Given the description of an element on the screen output the (x, y) to click on. 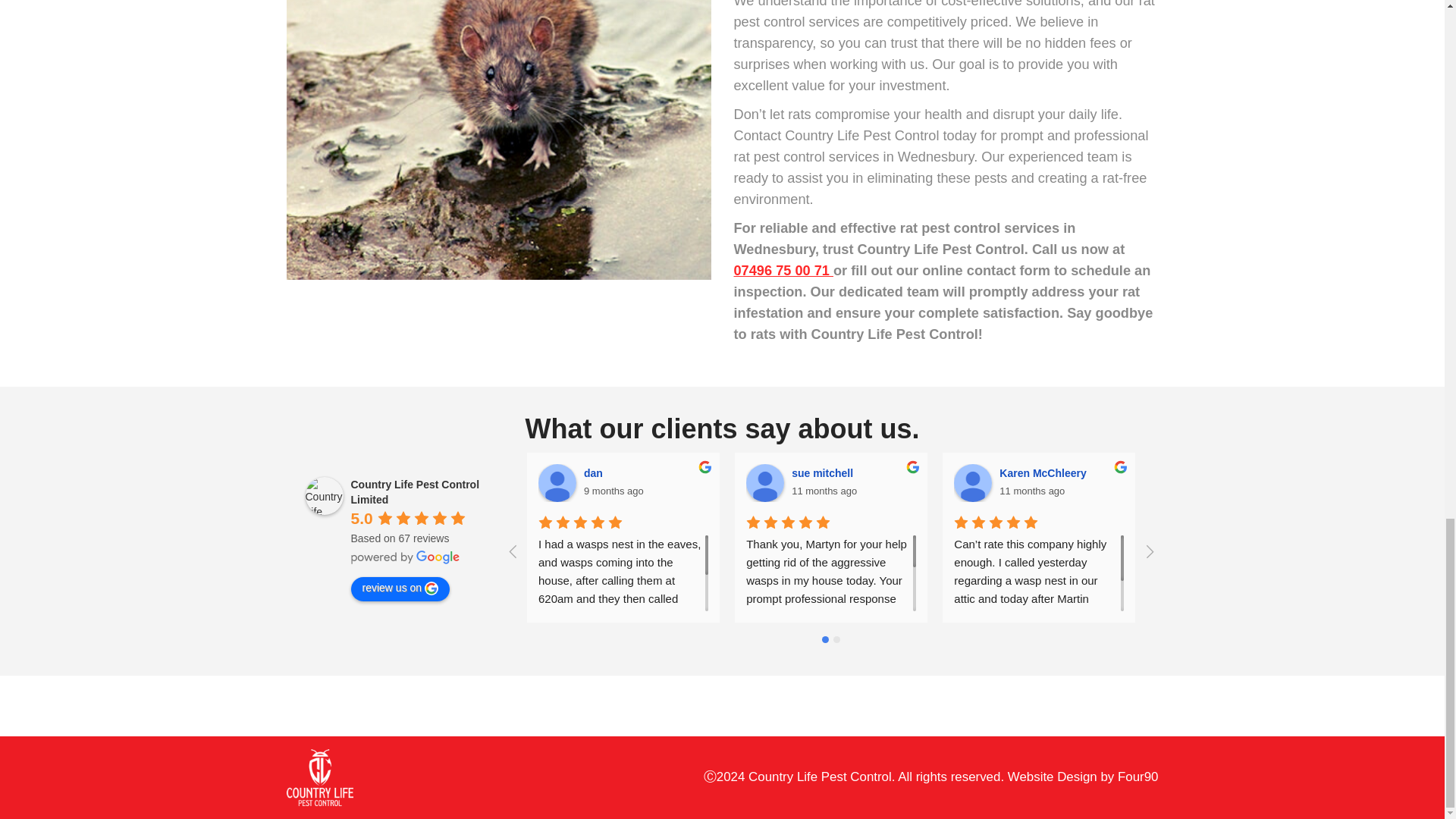
Country Life Pest Control Limited (323, 495)
Karen McChleery (972, 483)
dan (557, 483)
Rat in garden (498, 140)
sue mitchell (764, 483)
powered by Google (405, 557)
